Given the description of an element on the screen output the (x, y) to click on. 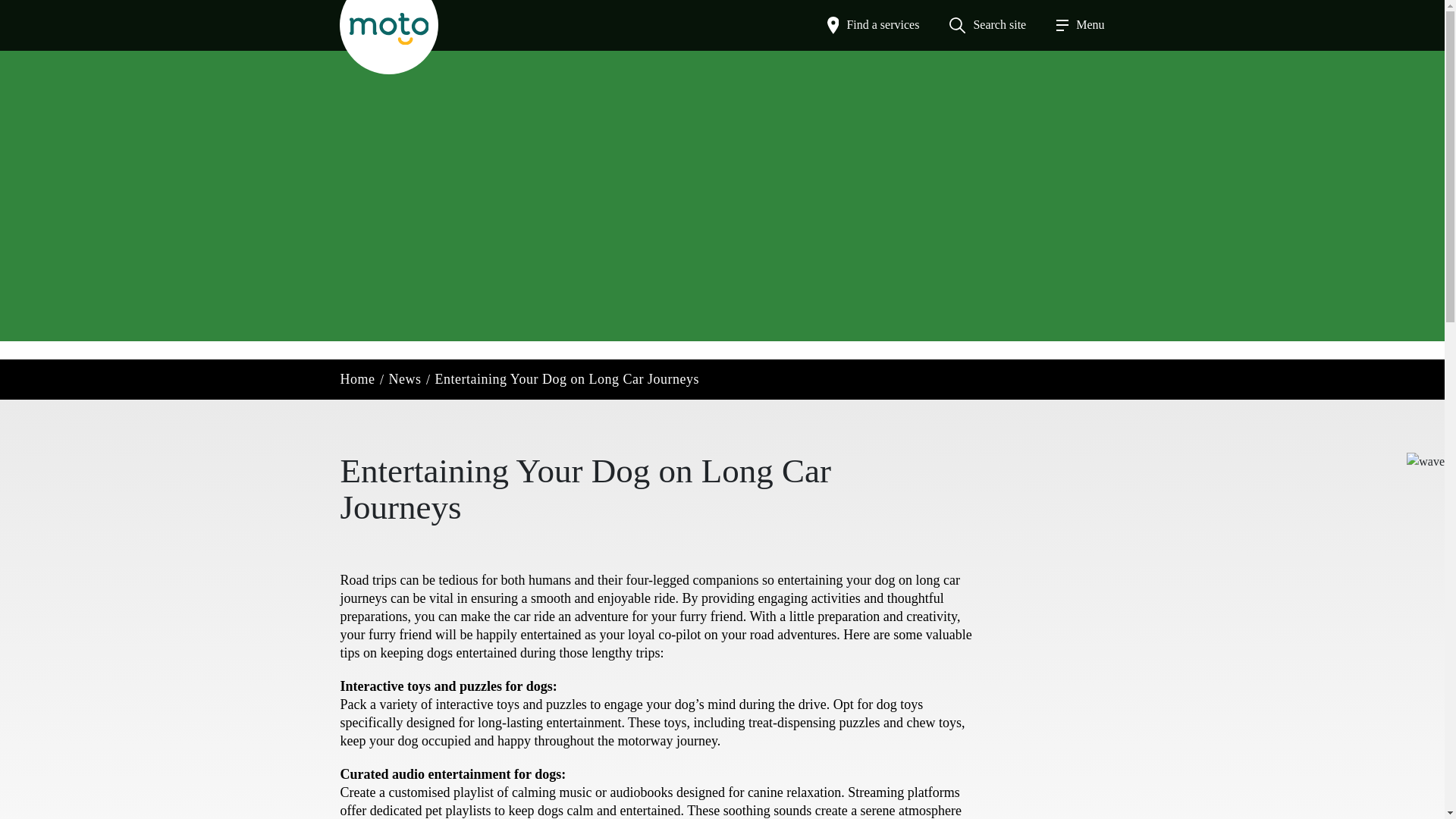
Search site (987, 24)
Find a services (873, 24)
Menu (1080, 24)
